Given the description of an element on the screen output the (x, y) to click on. 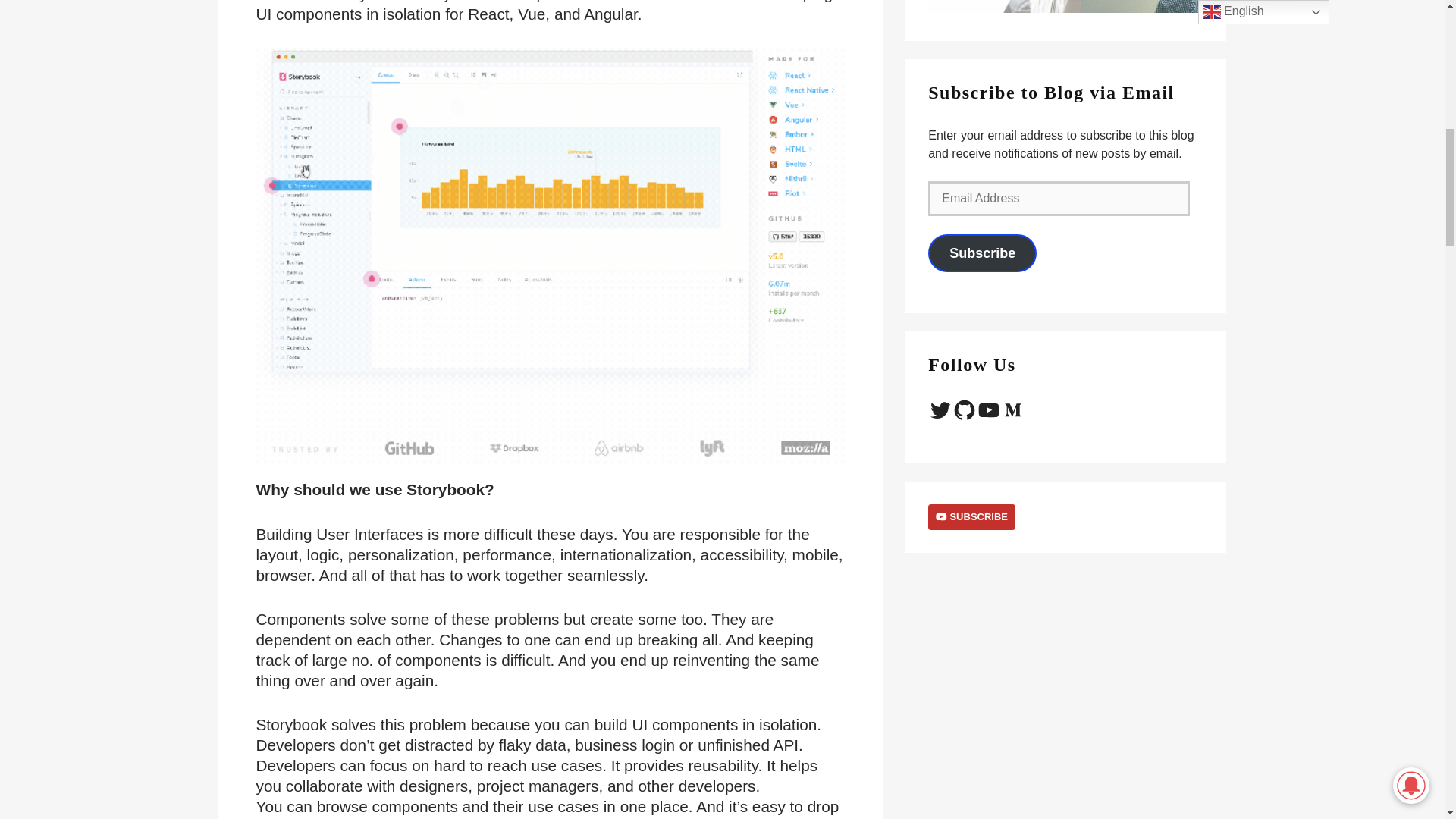
Subscribe (982, 252)
Medium (1013, 410)
Twitter (940, 410)
SUBSCRIBE (975, 516)
GitHub (964, 410)
SUBSCRIBE (971, 516)
YouTube (988, 410)
